Given the description of an element on the screen output the (x, y) to click on. 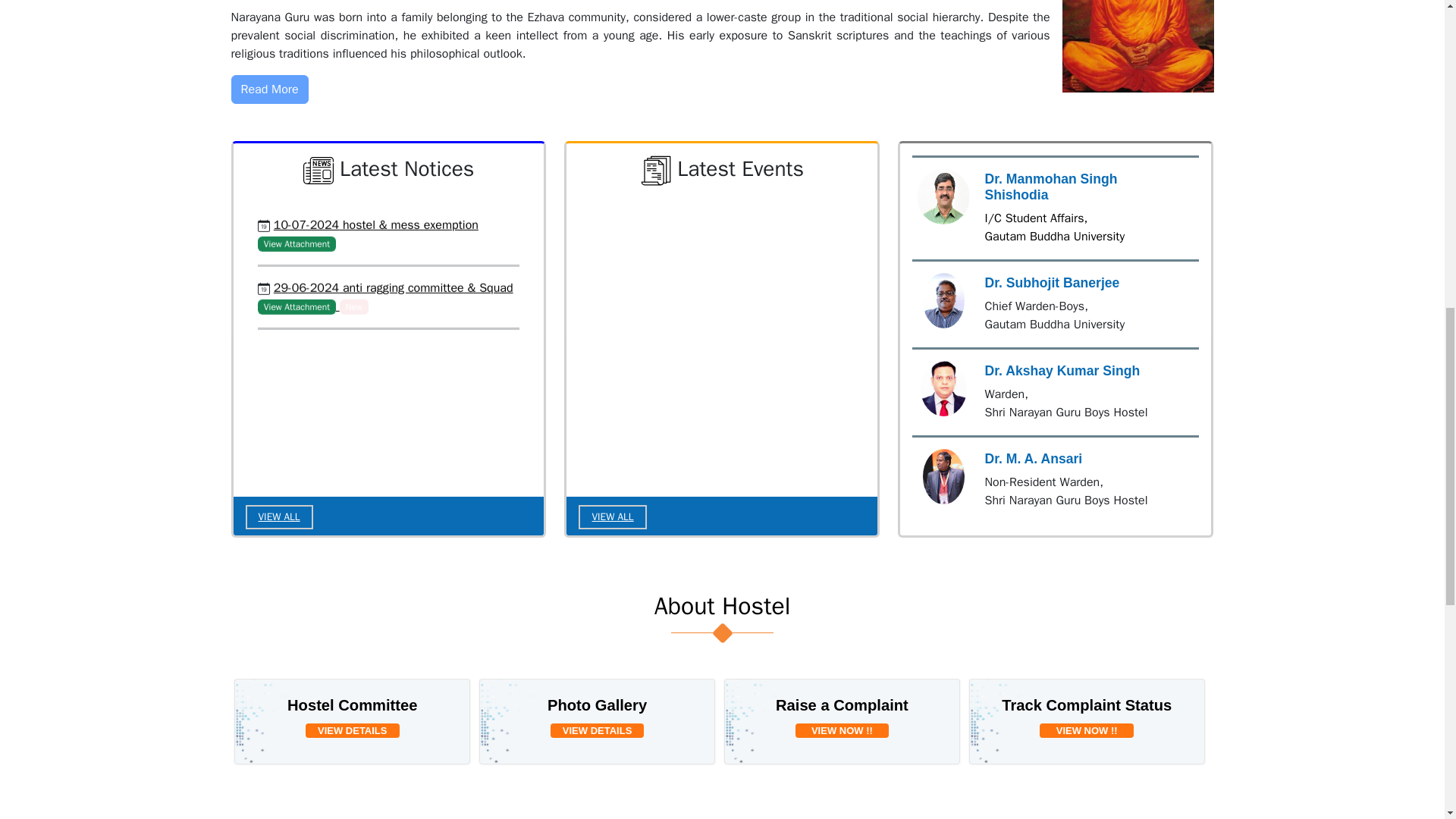
Hostel Committee (351, 705)
VIEW ALL (279, 517)
Read More (268, 89)
VIEW NOW !! (841, 730)
Photo Gallery (597, 705)
VIEW ALL (612, 517)
View All (279, 517)
VIEW DETAILS (351, 730)
Dr. Manmohan Singh Shishodia (943, 196)
